Given the description of an element on the screen output the (x, y) to click on. 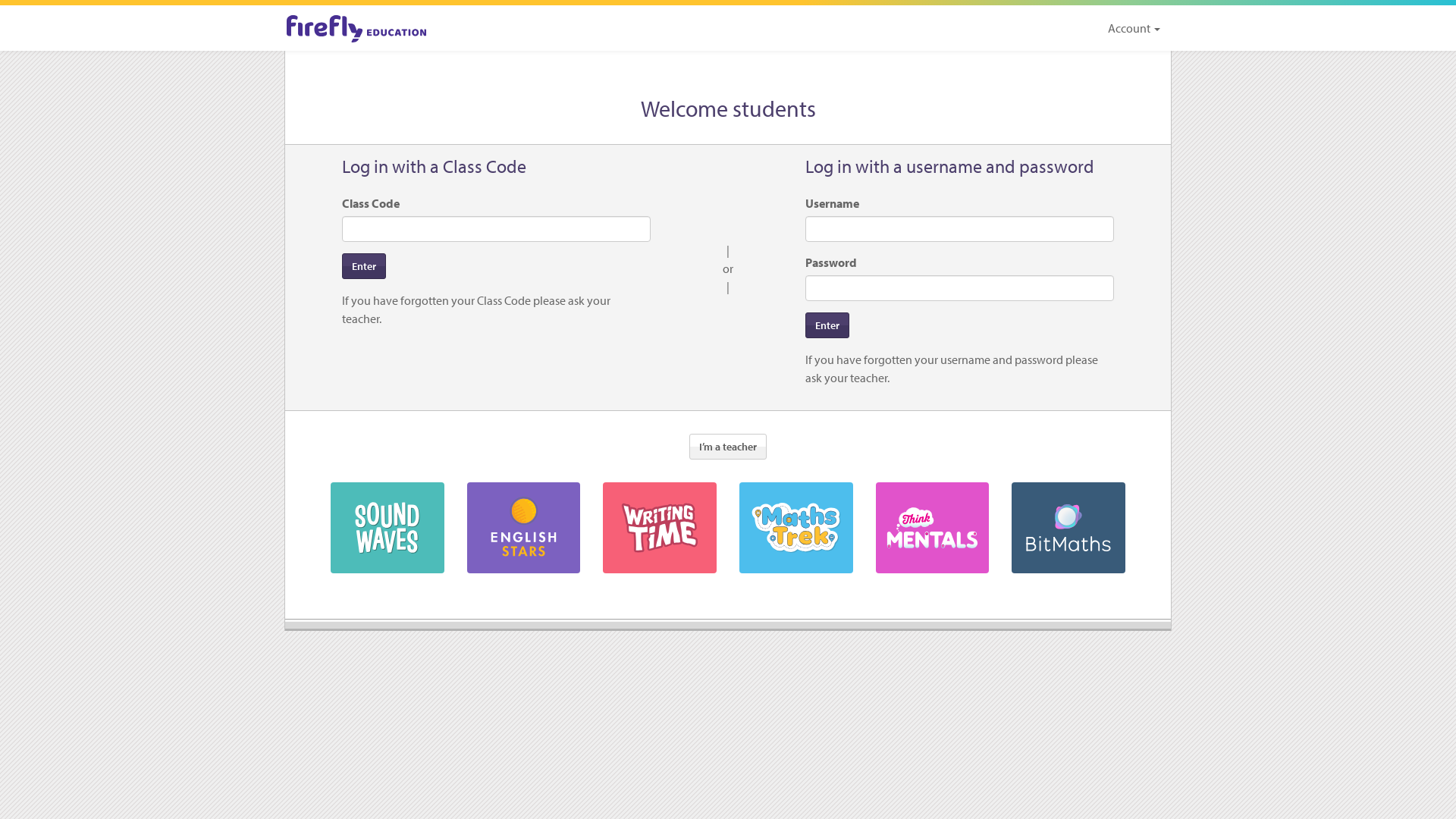
Enter Element type: text (827, 325)
Account Element type: text (1133, 27)
Enter Element type: text (363, 266)
Firefly Education Element type: hover (356, 28)
